Given the description of an element on the screen output the (x, y) to click on. 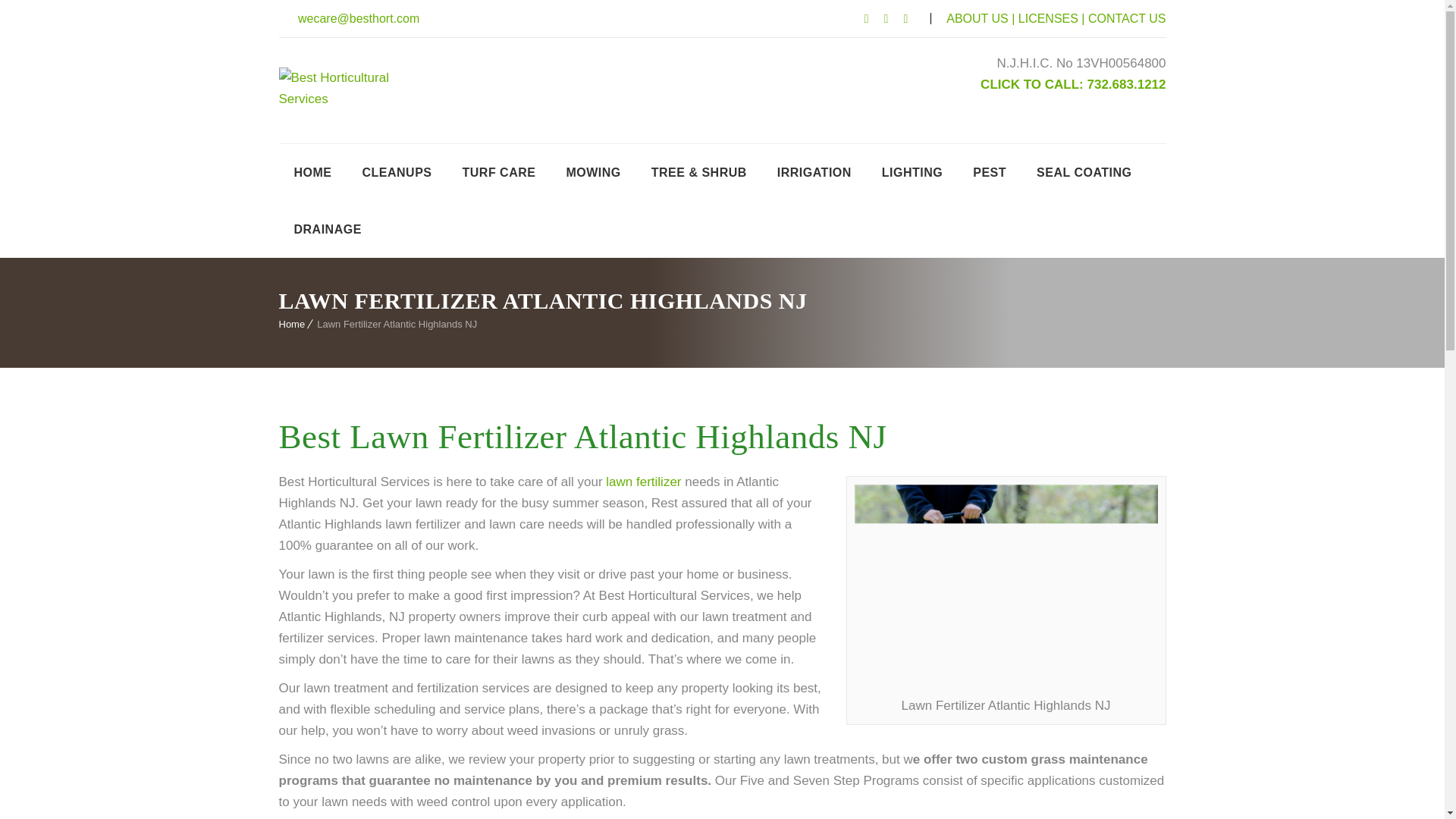
MOWING (592, 172)
Best Horticultural Services (359, 88)
HOME (313, 172)
CLEANUPS (396, 172)
CLICK TO CALL: 732.683.1212 (1072, 83)
Lawn Fertilizer Atlantic Highlands NJ (1005, 585)
CONTACT US (1126, 18)
TURF CARE (498, 172)
